Given the description of an element on the screen output the (x, y) to click on. 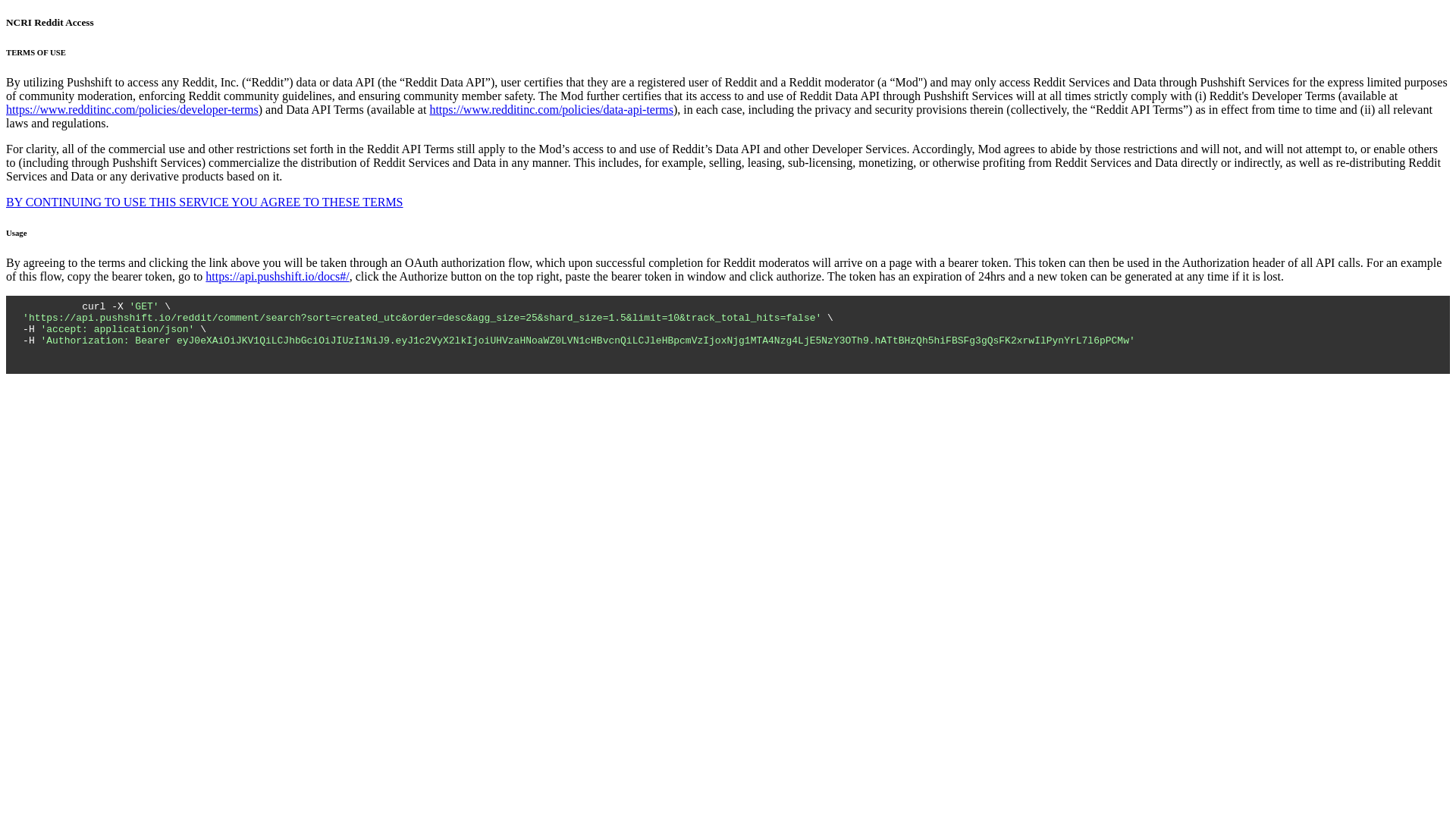
BY CONTINUING TO USE THIS SERVICE YOU AGREE TO THESE TERMS (204, 201)
